Given the description of an element on the screen output the (x, y) to click on. 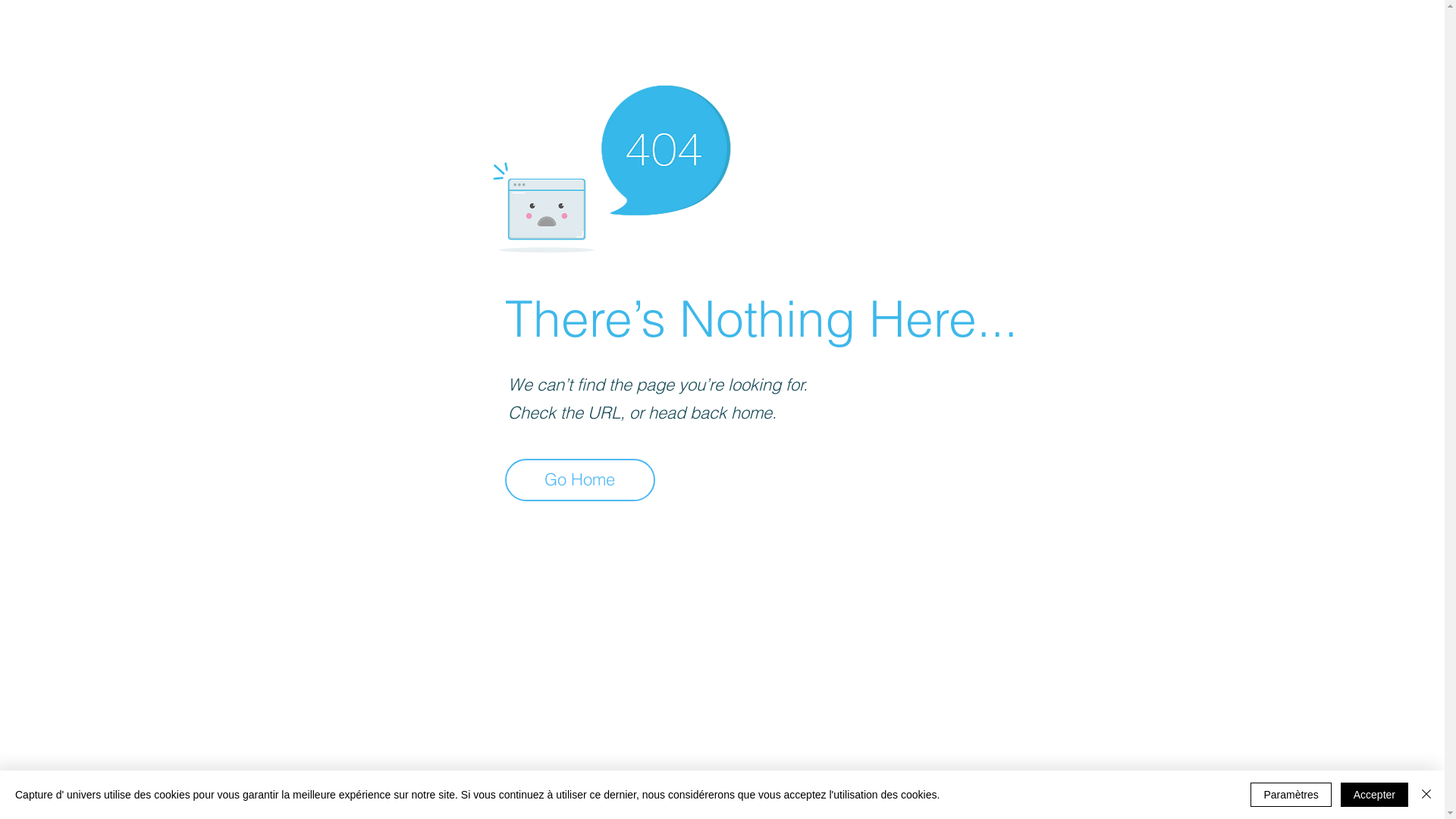
404-icon_2.png Element type: hover (610, 164)
Go Home Element type: text (580, 479)
Accepter Element type: text (1374, 794)
